Given the description of an element on the screen output the (x, y) to click on. 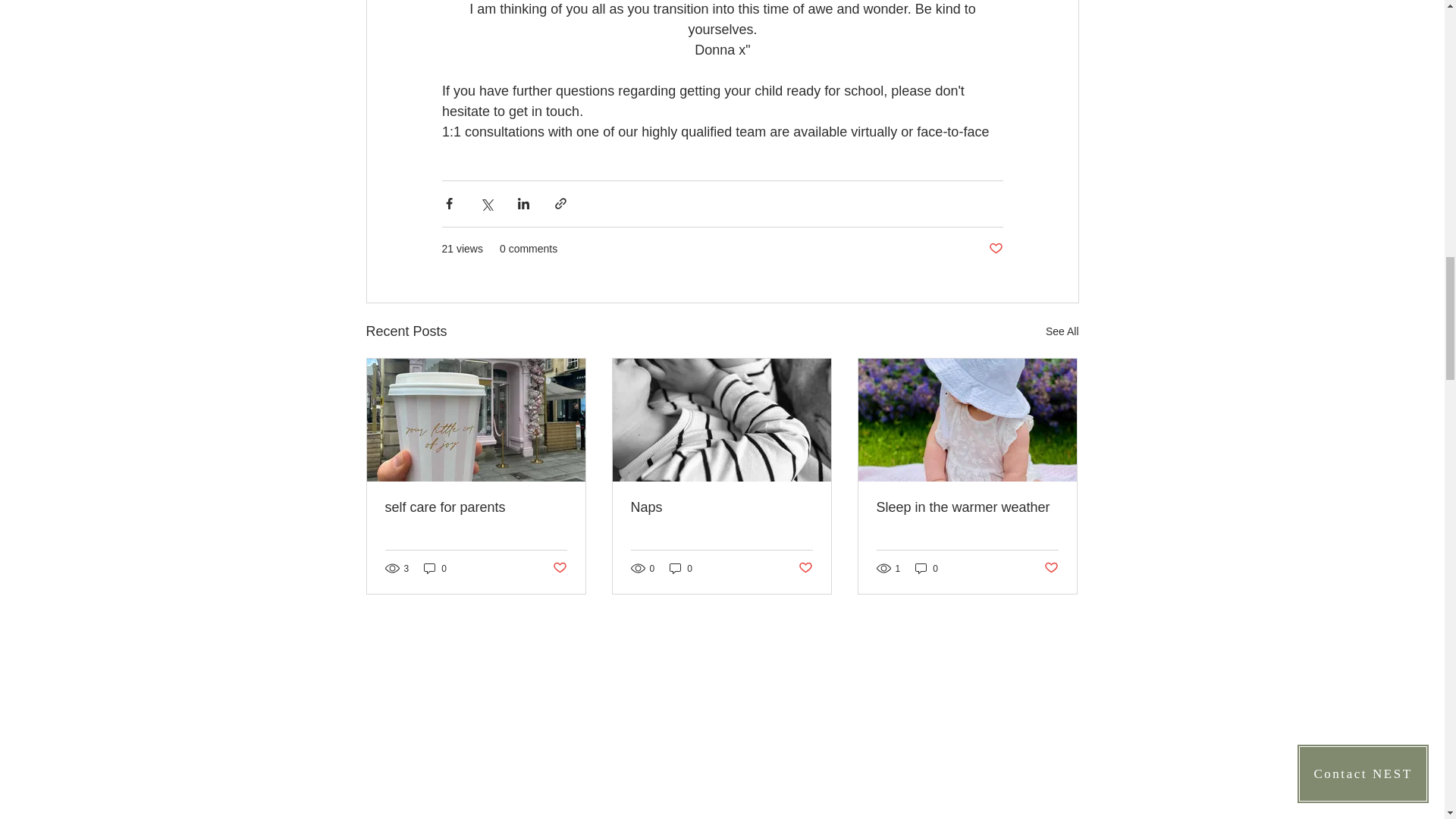
0 (926, 568)
Post not marked as liked (804, 568)
0 (435, 568)
See All (1061, 332)
Naps (721, 507)
Post not marked as liked (558, 568)
self care for parents (476, 507)
Post not marked as liked (1050, 568)
0 (681, 568)
Post not marked as liked (995, 248)
Sleep in the warmer weather (967, 507)
